Given the description of an element on the screen output the (x, y) to click on. 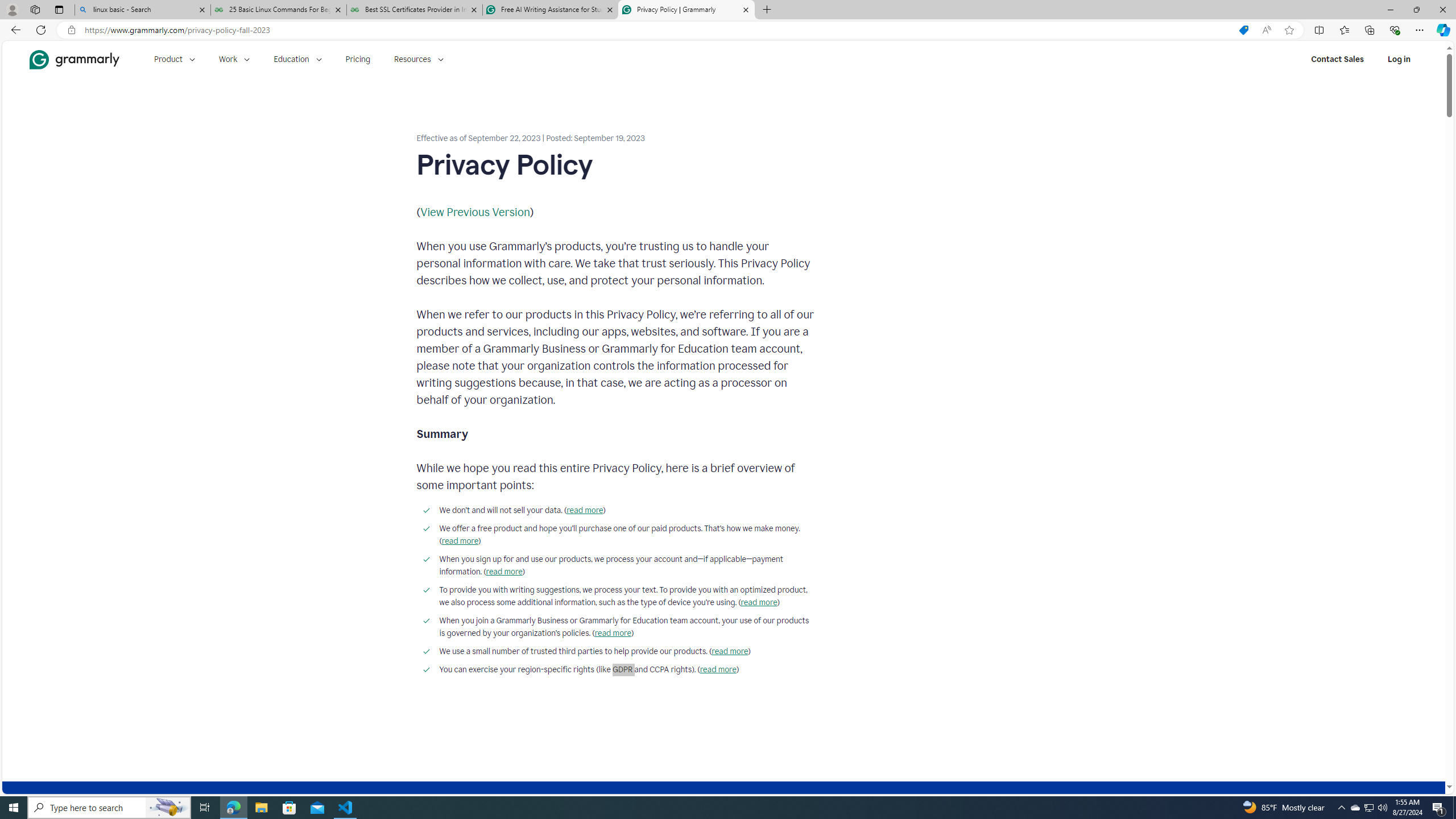
read more (717, 669)
Resources (419, 58)
Product (174, 58)
Free AI Writing Assistance for Students | Grammarly (550, 9)
Privacy Policy | Grammarly (685, 9)
View Previous Version (474, 211)
